Given the description of an element on the screen output the (x, y) to click on. 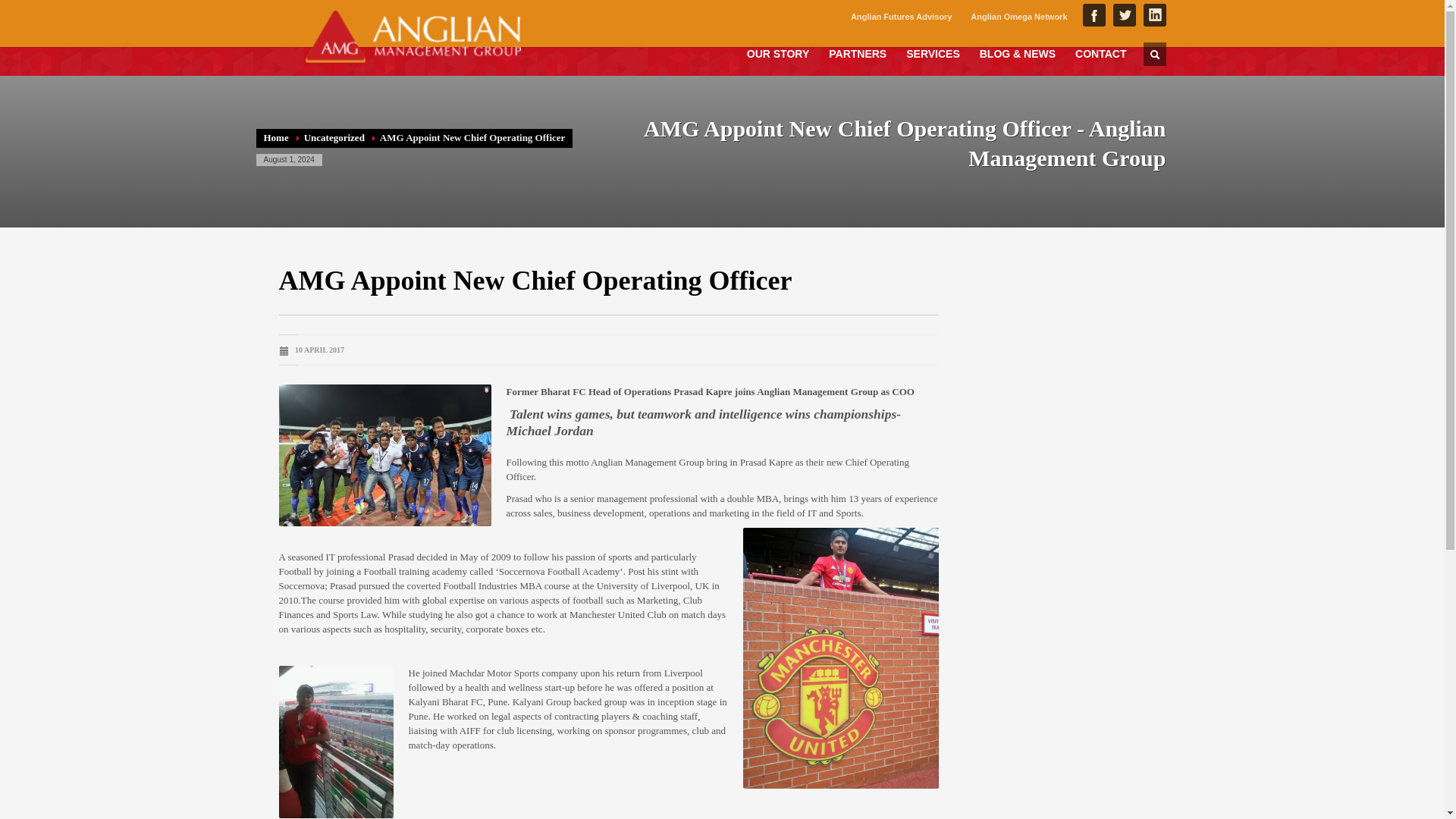
OUR STORY (778, 53)
Uncategorized (334, 137)
Anglian Omega Network (1019, 16)
SERVICES (932, 53)
PARTNERS (857, 53)
CONTACT (1100, 53)
Anglian Futures Advisory (901, 16)
Global Expertise for Local Success (412, 37)
Home (275, 137)
